Given the description of an element on the screen output the (x, y) to click on. 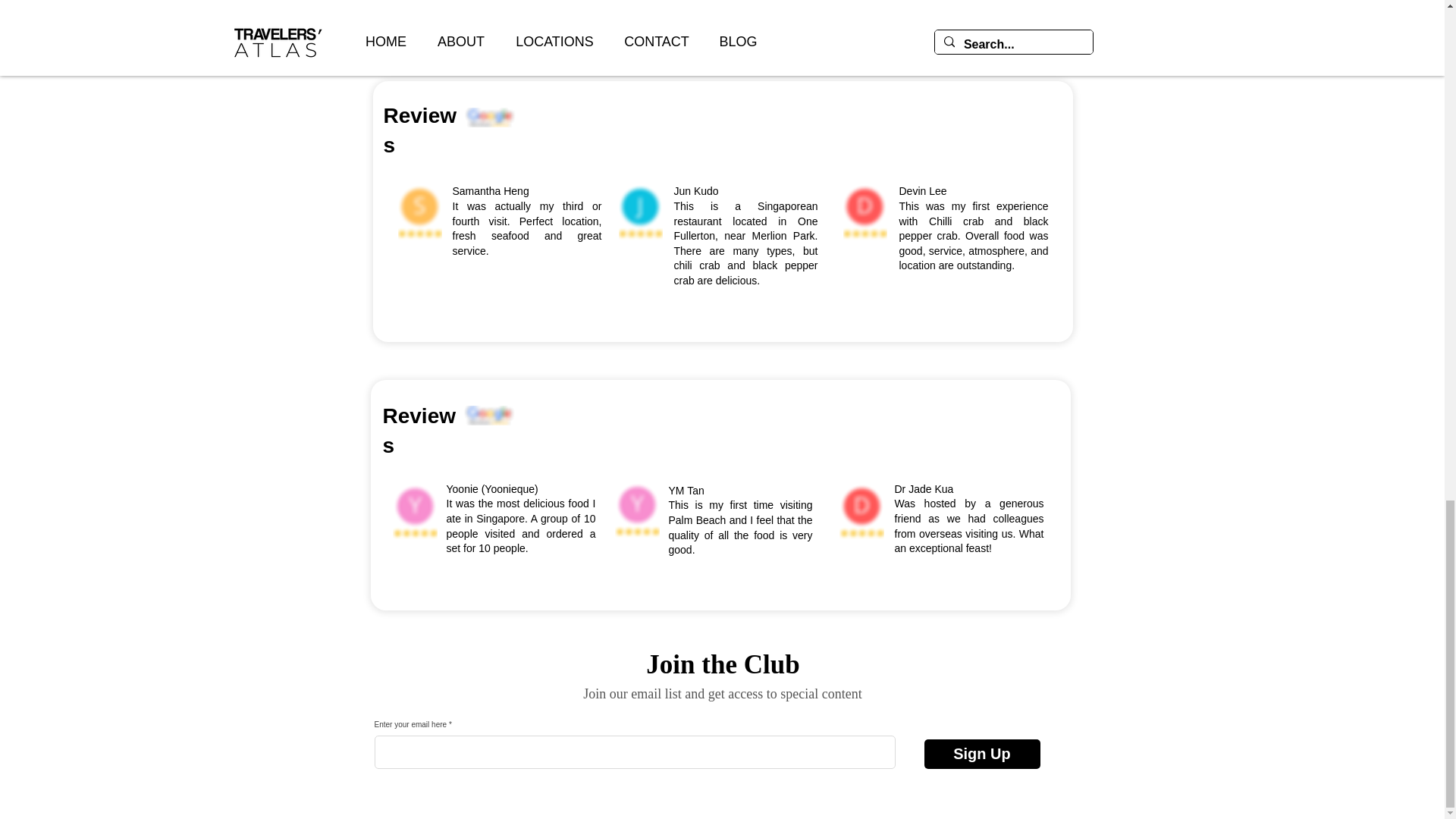
Sign Up (981, 754)
